Given the description of an element on the screen output the (x, y) to click on. 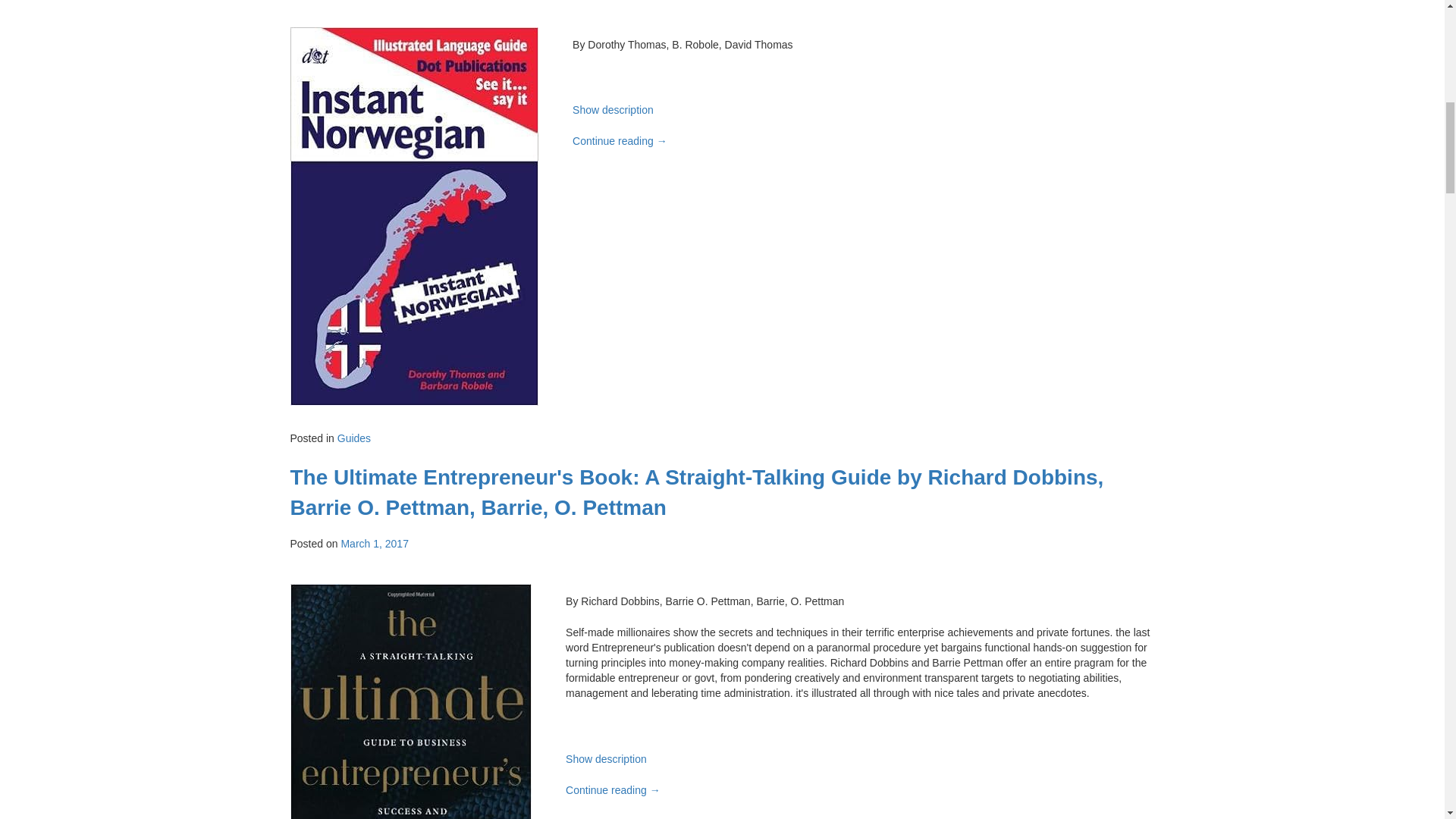
Guides (354, 438)
March 1, 2017 (374, 543)
Show description (606, 758)
Show description (612, 110)
